Given the description of an element on the screen output the (x, y) to click on. 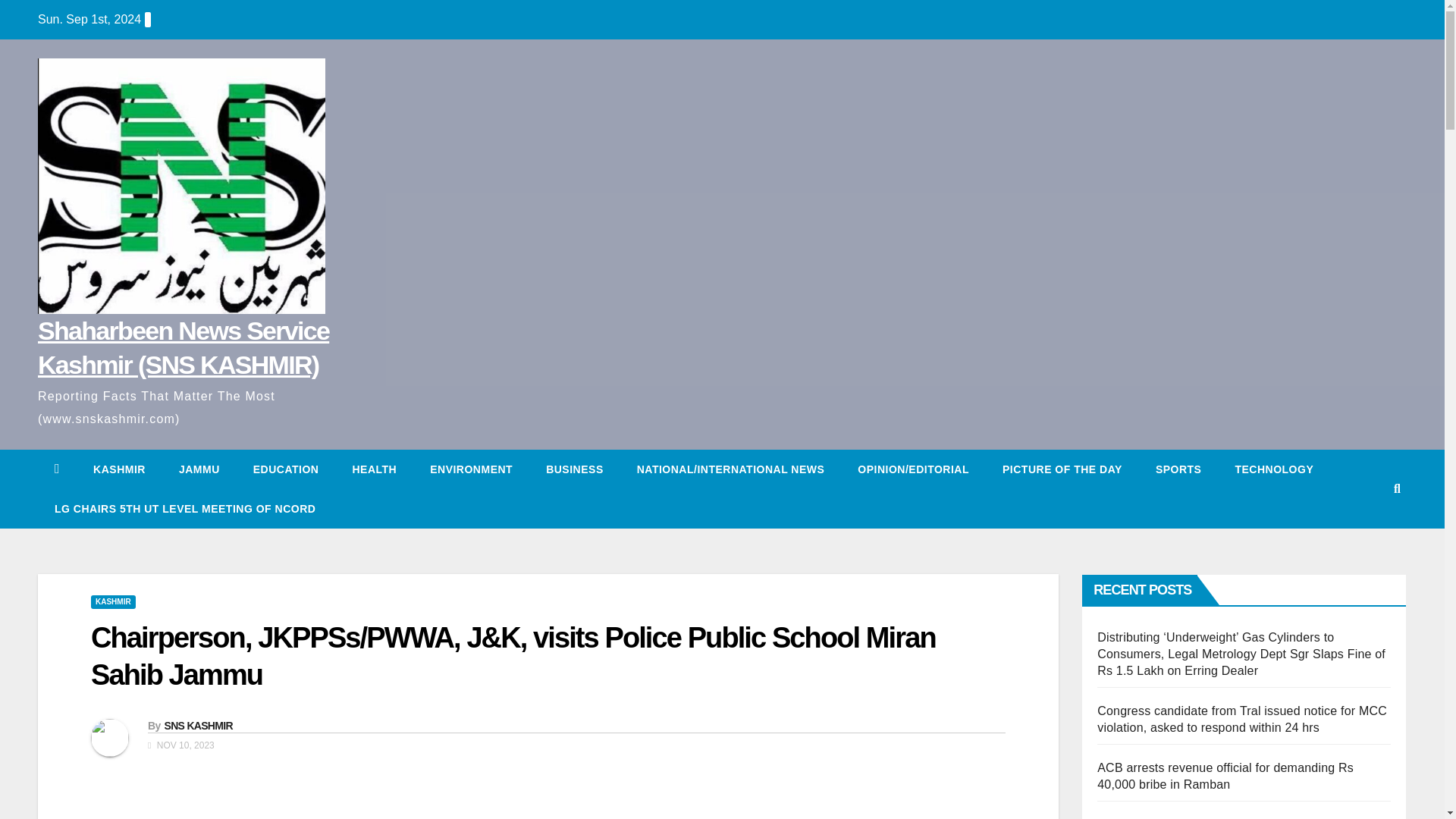
KASHMIR (112, 602)
LG CHAIRS 5TH UT LEVEL MEETING OF NCORD (184, 508)
Business (574, 468)
Environment (471, 468)
TECHNOLOGY (1273, 468)
Picture of the Day (1061, 468)
Health (373, 468)
ENVIRONMENT (471, 468)
Technology (1273, 468)
SPORTS (1178, 468)
